Given the description of an element on the screen output the (x, y) to click on. 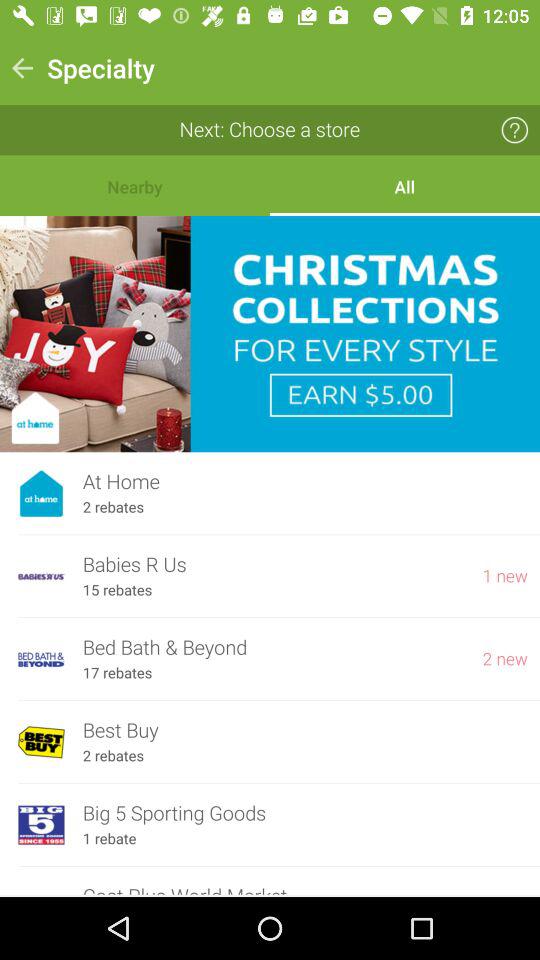
select the icon to the left of the 2 new icon (117, 673)
